Given the description of an element on the screen output the (x, y) to click on. 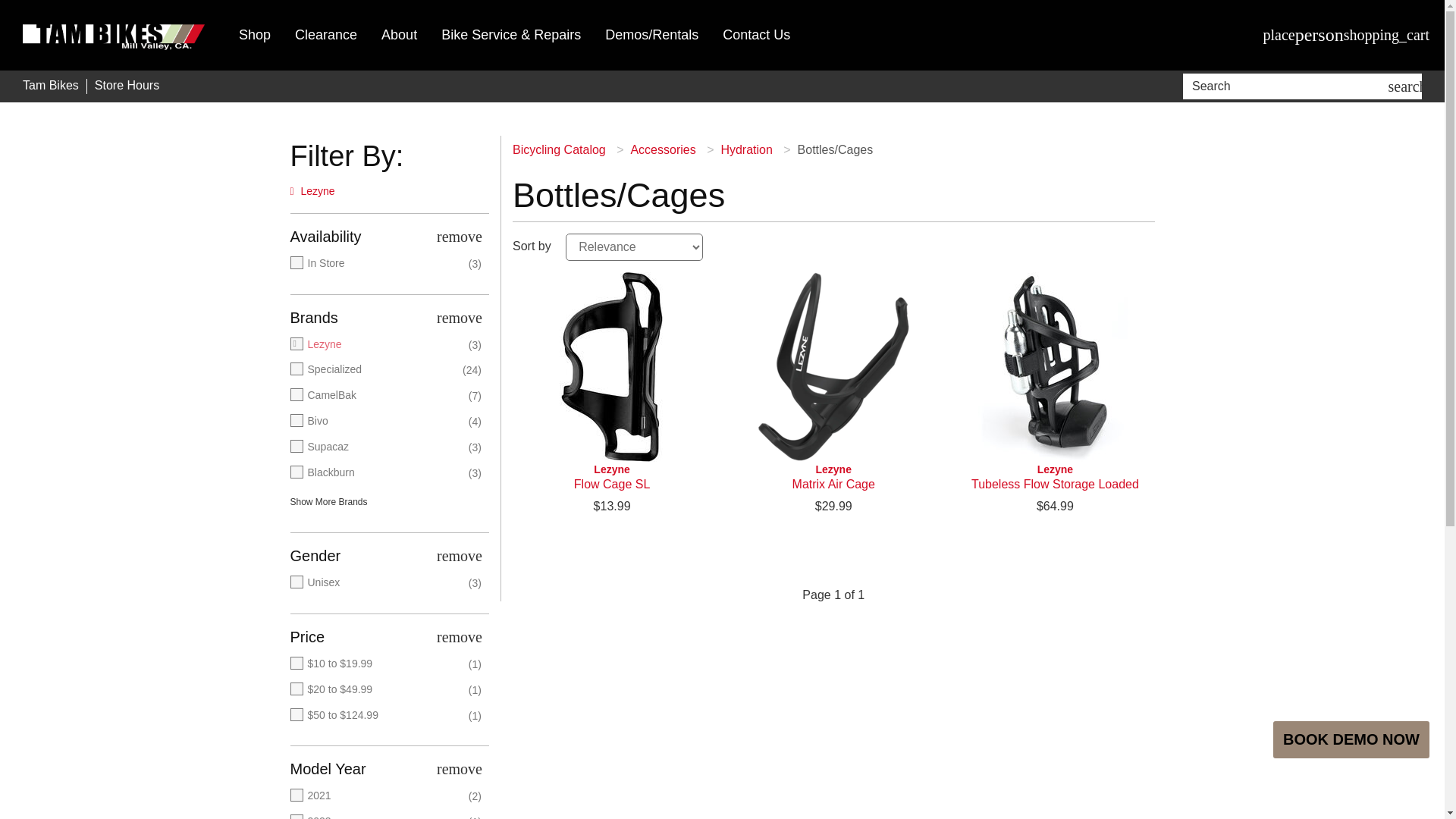
Tam Bikes Home Page (114, 34)
Lezyne Flow Cage SL (611, 476)
Lezyne Matrix Air Cage  (833, 476)
Tam Bikes Home Page (50, 85)
BOOK DEMO NOW (1350, 739)
Account (1319, 35)
Lezyne Tubeless Flow Storage Loaded (1054, 366)
Stores (1279, 34)
Store Hours (126, 85)
Search (1287, 86)
